Given the description of an element on the screen output the (x, y) to click on. 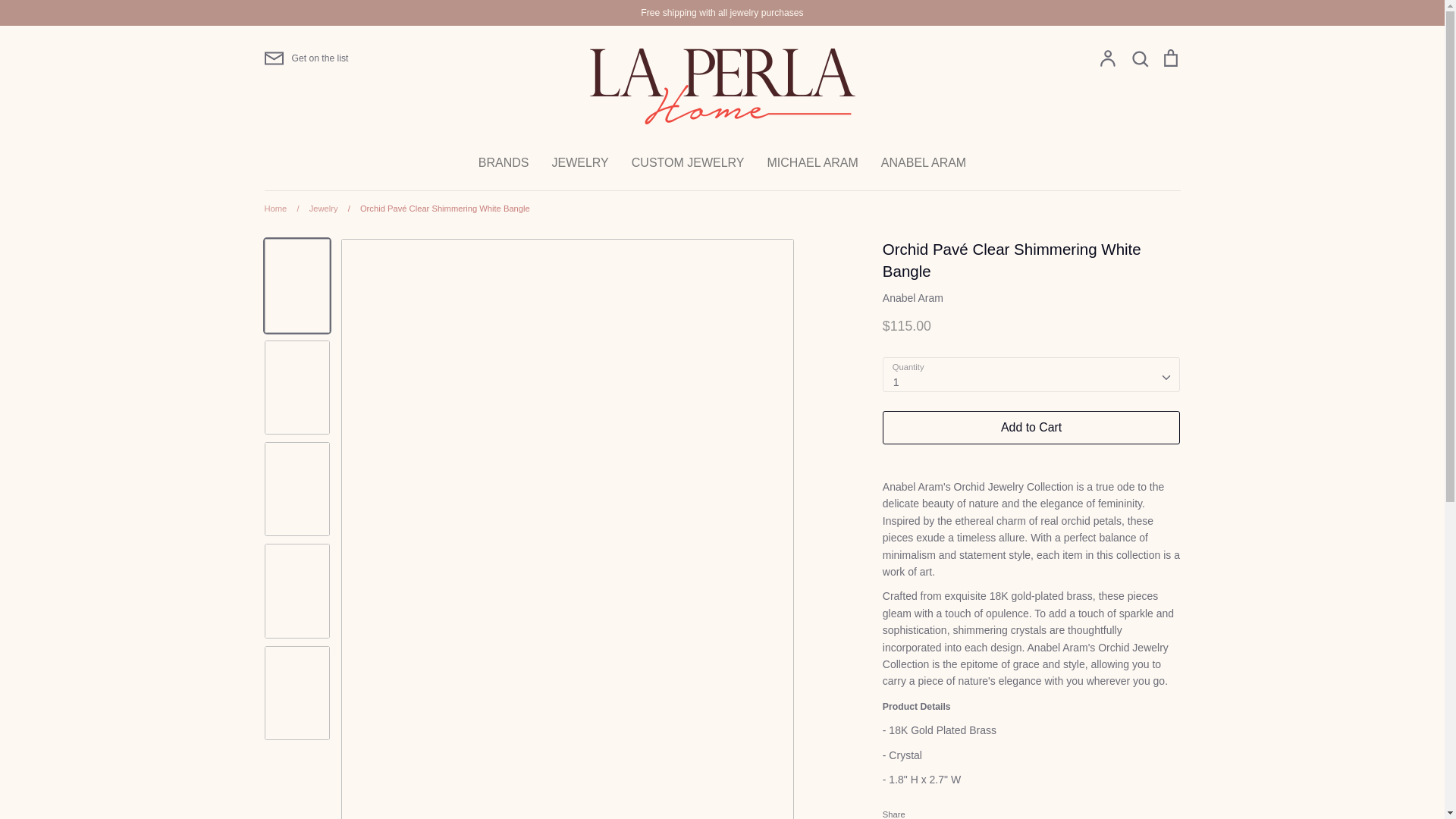
1 (1031, 374)
Search (1139, 57)
Cart (1169, 57)
BRANDS (504, 162)
Account (1107, 57)
JEWELRY (579, 162)
Get on the list (305, 57)
